Given the description of an element on the screen output the (x, y) to click on. 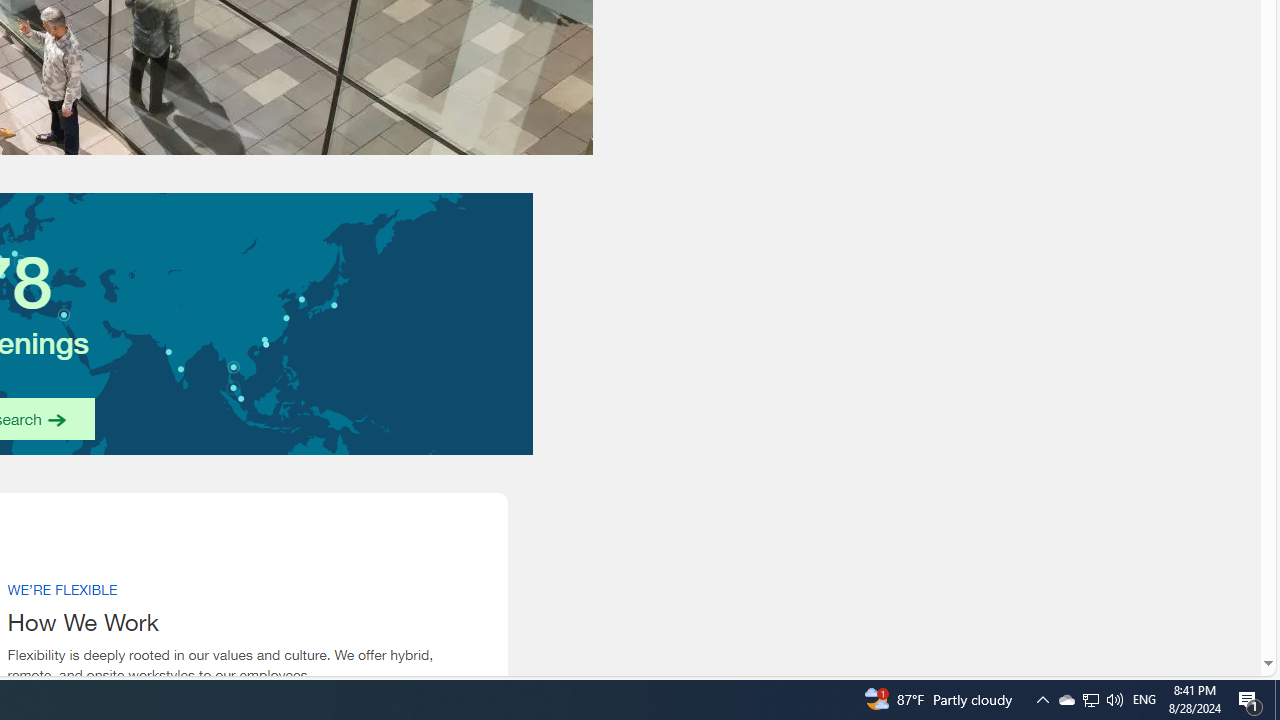
Q2790: 100% (1114, 699)
User Promoted Notification Area (1090, 699)
Action Center, 1 new notification (1066, 699)
Notification Chevron (1250, 699)
Show desktop (1042, 699)
Tray Input Indicator - English (United States) (1277, 699)
